Given the description of an element on the screen output the (x, y) to click on. 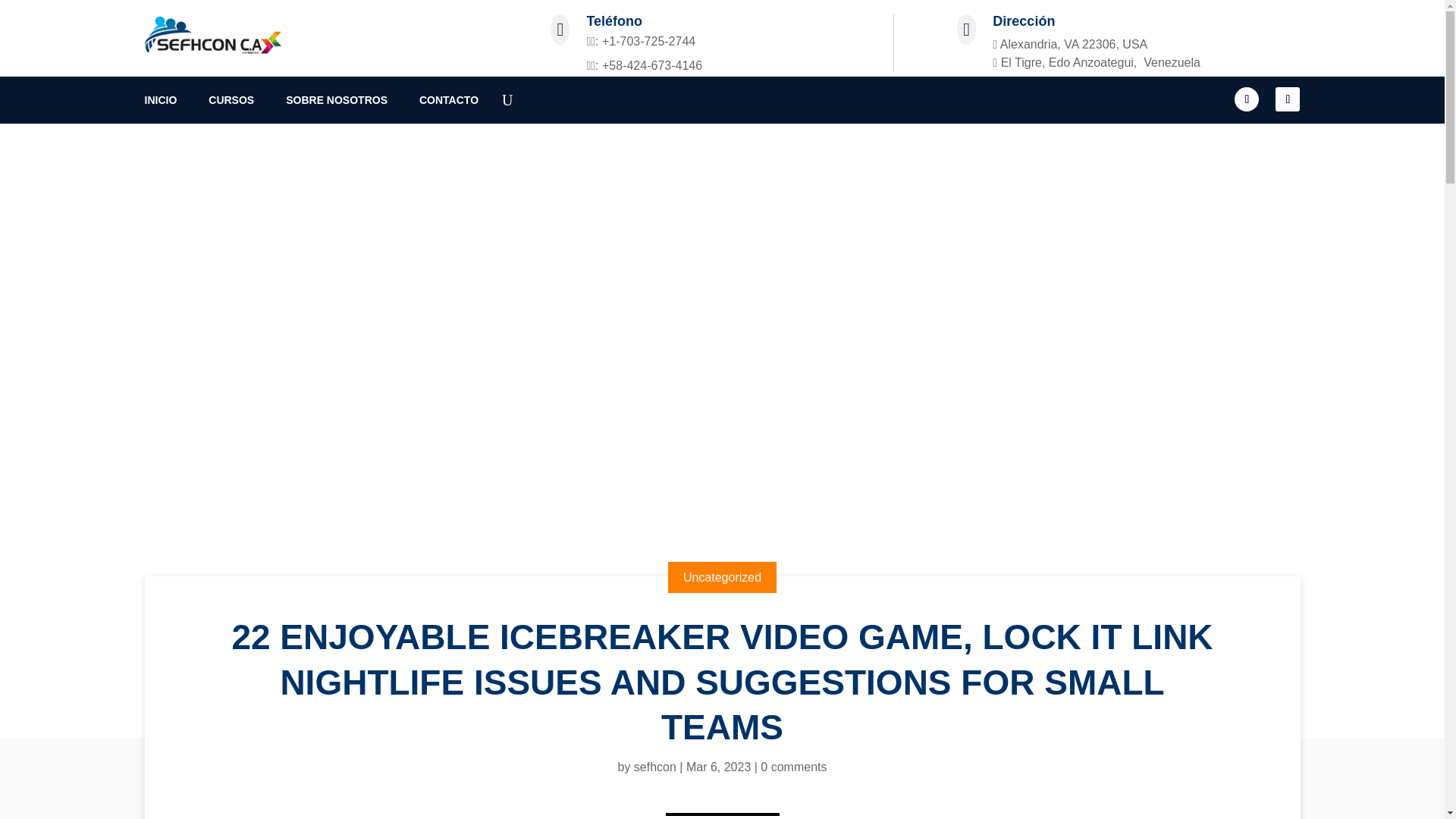
Cursos (770, 585)
Follow on X (1287, 98)
CONTACTO (456, 103)
CURSOS (238, 103)
Uncategorized (722, 576)
Faculty (770, 633)
sefhcon (655, 766)
SOBRE NOSOTROS (344, 103)
Posts by sefhcon (655, 766)
Careers (773, 656)
Sobre nosotros (789, 562)
Facilities (774, 609)
Follow on Instagram (1246, 98)
logo sefhcon (212, 34)
0 comments (793, 766)
